Given the description of an element on the screen output the (x, y) to click on. 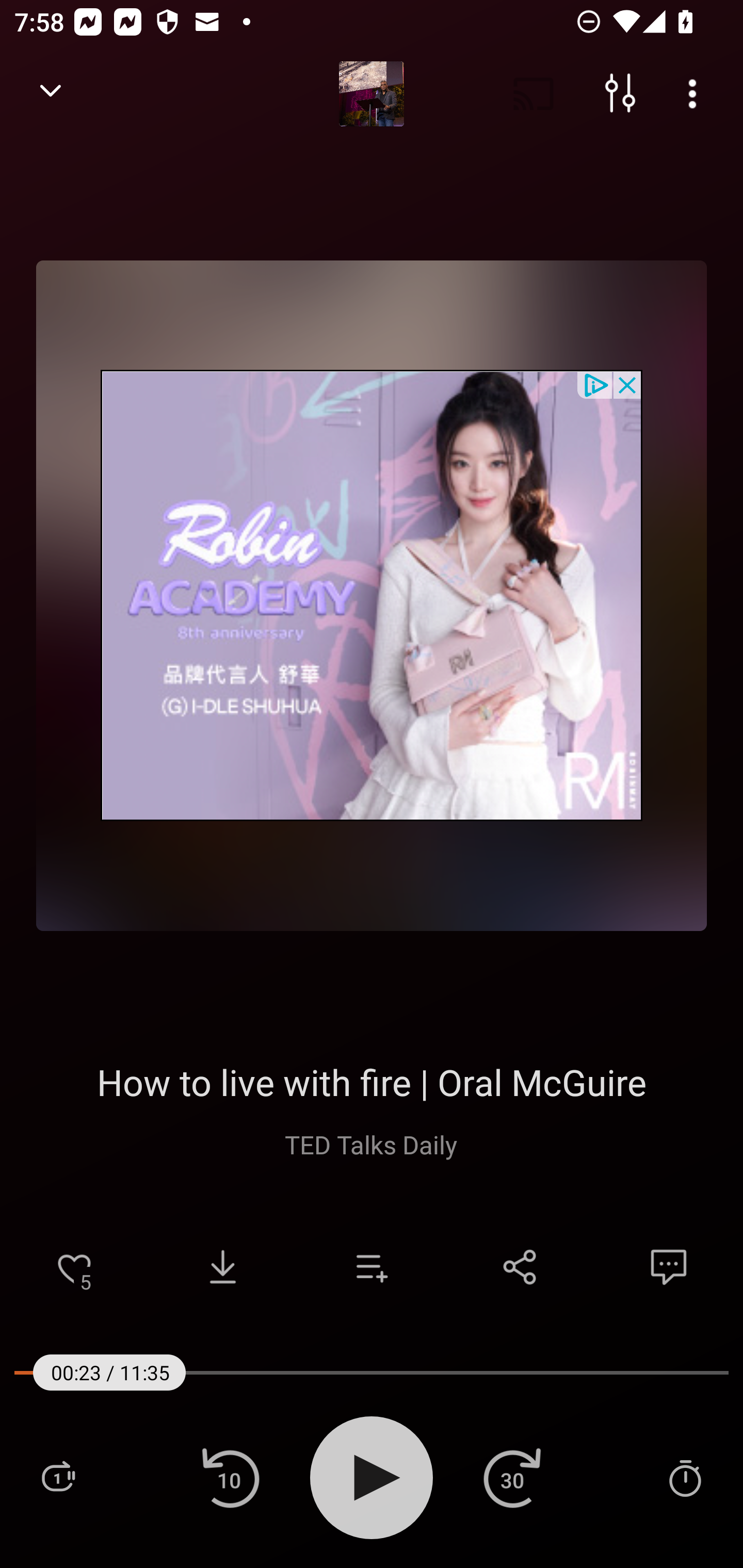
 Back (50, 94)
privacy_small (595, 384)
close_button (627, 384)
How to live with fire | Oral McGuire (371, 1081)
TED Talks Daily (371, 1144)
Comments (668, 1266)
Add to Favorites (73, 1266)
Add to playlist (371, 1266)
Share (519, 1266)
 Playlist (57, 1477)
Sleep Timer  (684, 1477)
